Given the description of an element on the screen output the (x, y) to click on. 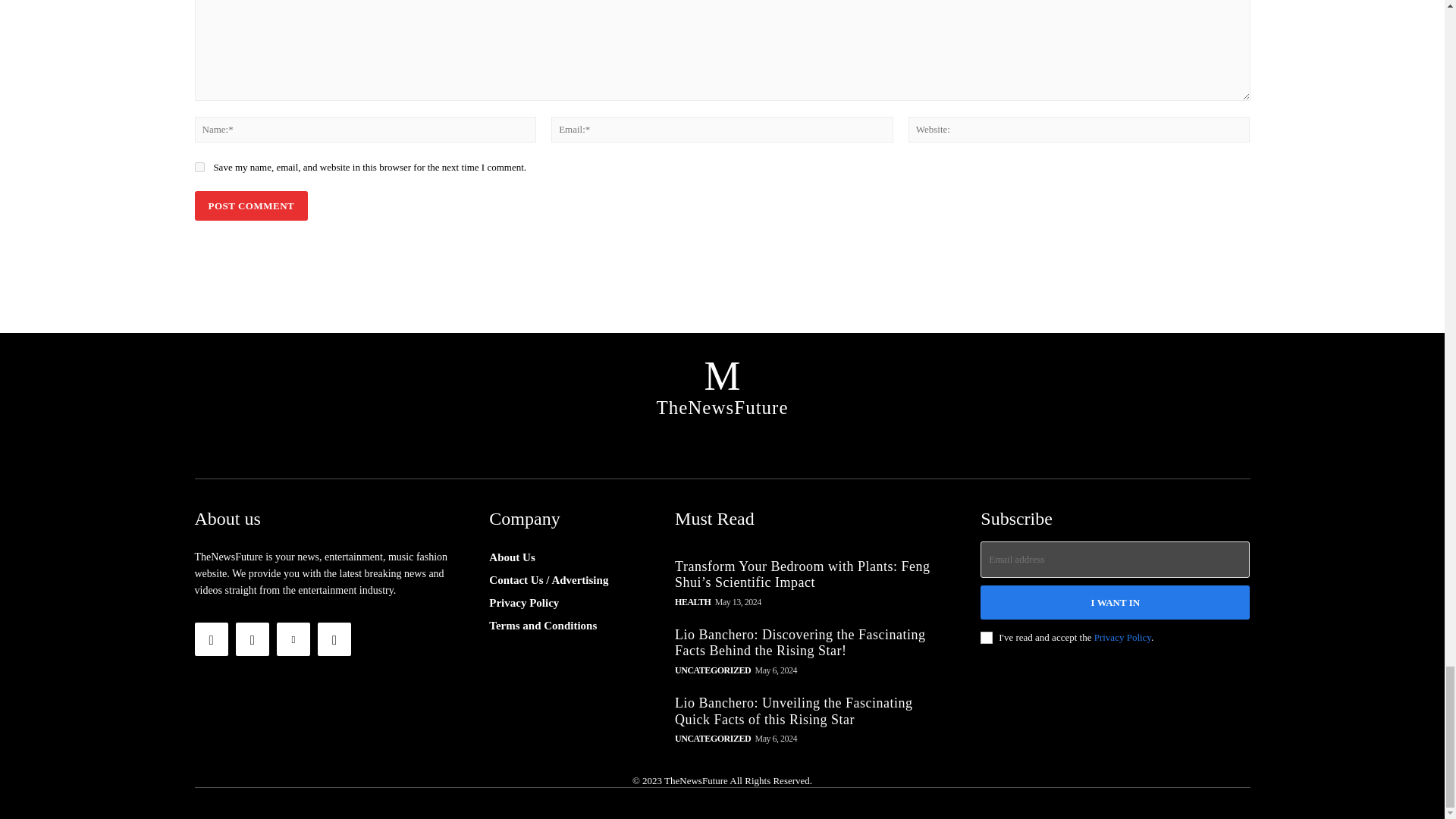
yes (198, 166)
Post Comment (250, 205)
